Given the description of an element on the screen output the (x, y) to click on. 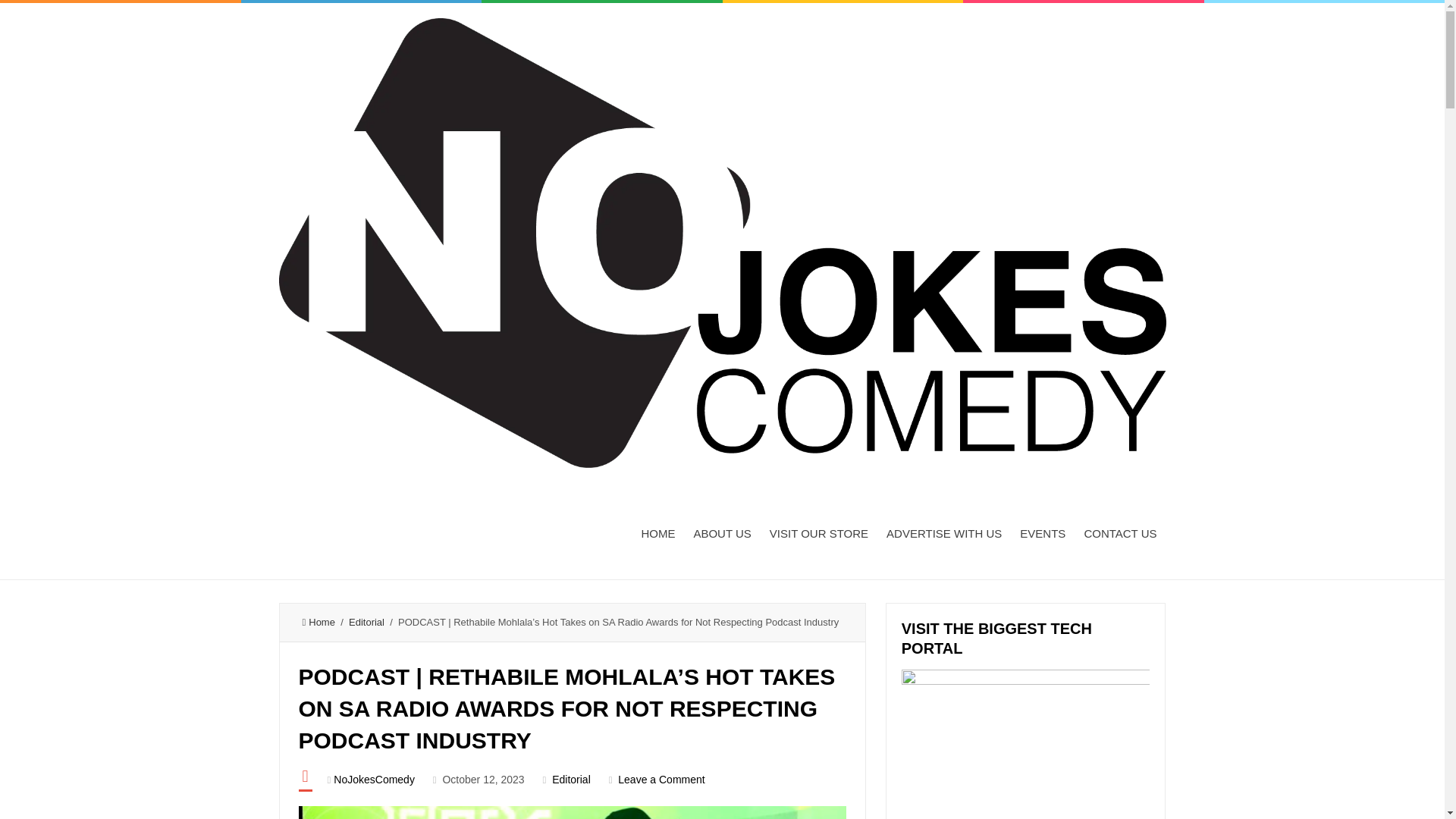
ADVERTISE WITH US (943, 533)
CONTACT US (1120, 533)
ABOUT US (722, 533)
VISIT OUR STORE (818, 533)
EVENTS (1042, 533)
Posts by NoJokesComedy (373, 779)
Leave a Comment (660, 779)
NoJokesComedy (373, 779)
Home (317, 622)
Editorial (366, 622)
HOME (657, 533)
Editorial (571, 779)
October 12, 2023 (483, 779)
